Given the description of an element on the screen output the (x, y) to click on. 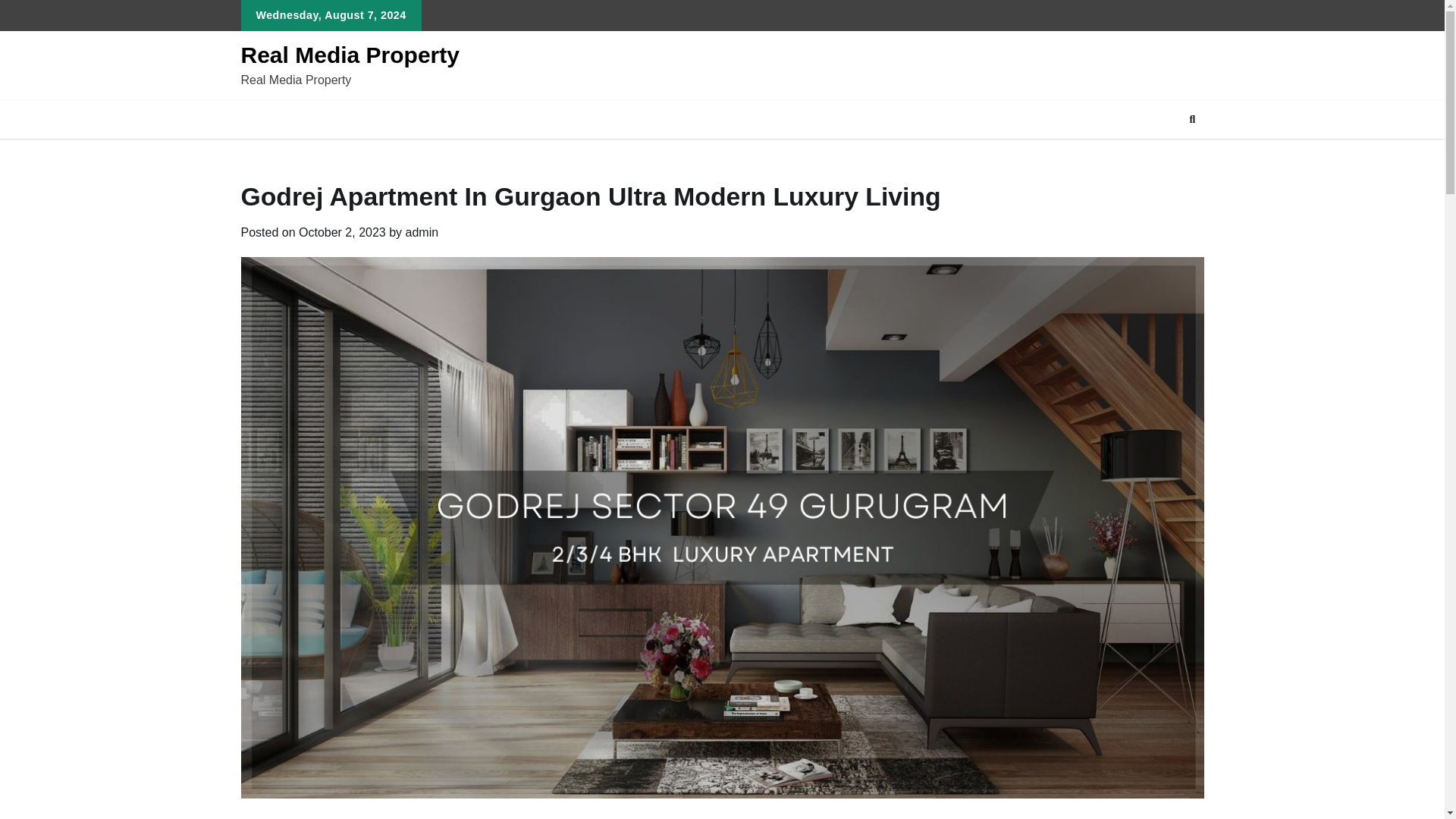
Search (1164, 154)
Search (1192, 119)
October 2, 2023 (341, 232)
admin (422, 232)
Real Media Property (350, 54)
